Given the description of an element on the screen output the (x, y) to click on. 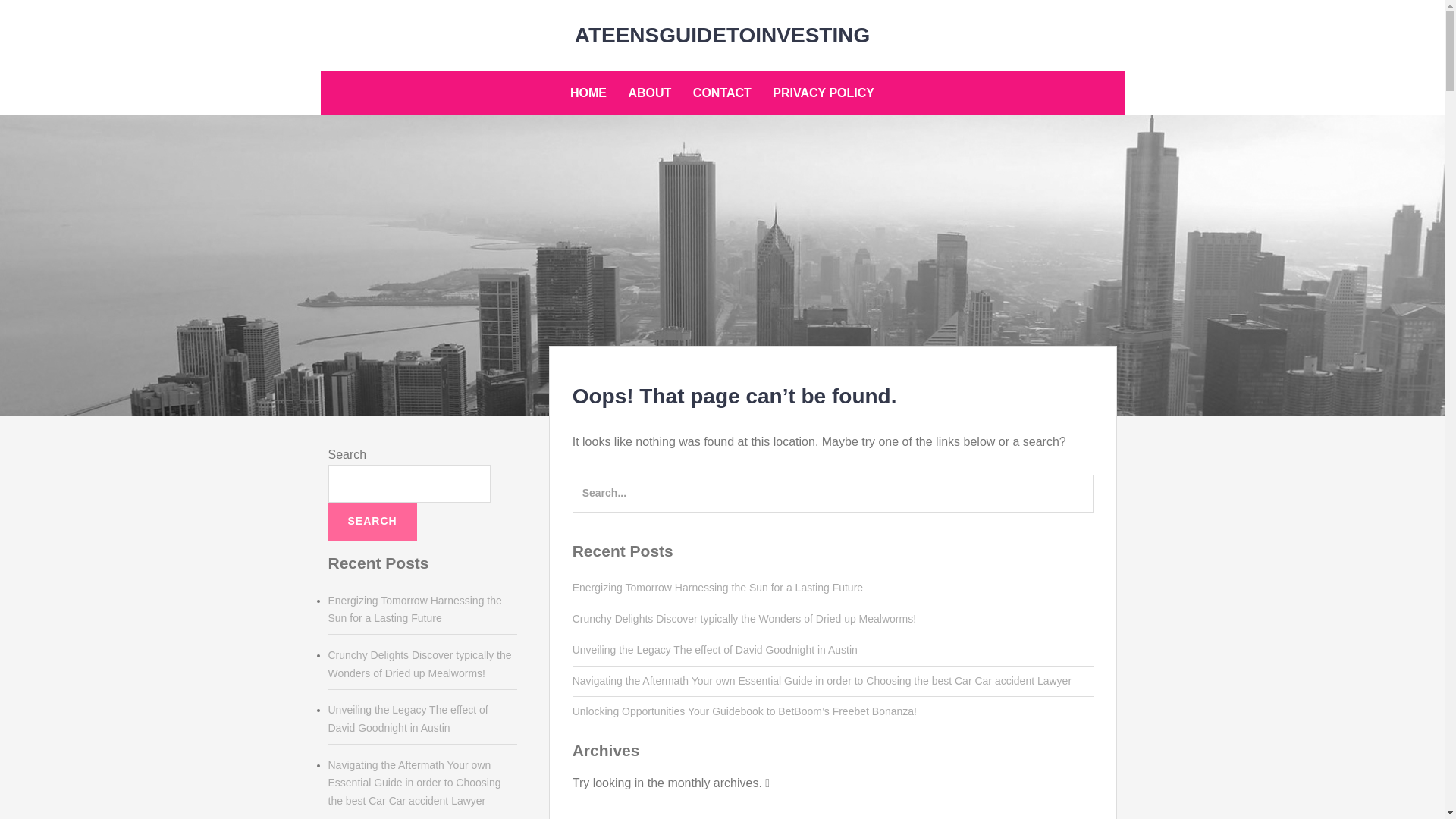
Energizing Tomorrow Harnessing the Sun for a Lasting Future (413, 609)
Unveiling the Legacy The effect of David Goodnight in Austin (714, 649)
Energizing Tomorrow Harnessing the Sun for a Lasting Future (717, 587)
Unveiling the Legacy The effect of David Goodnight in Austin (407, 718)
SEARCH (371, 521)
HOME (587, 92)
ABOUT (648, 92)
Search (44, 18)
CONTACT (722, 92)
ATEENSGUIDETOINVESTING (722, 34)
